Given the description of an element on the screen output the (x, y) to click on. 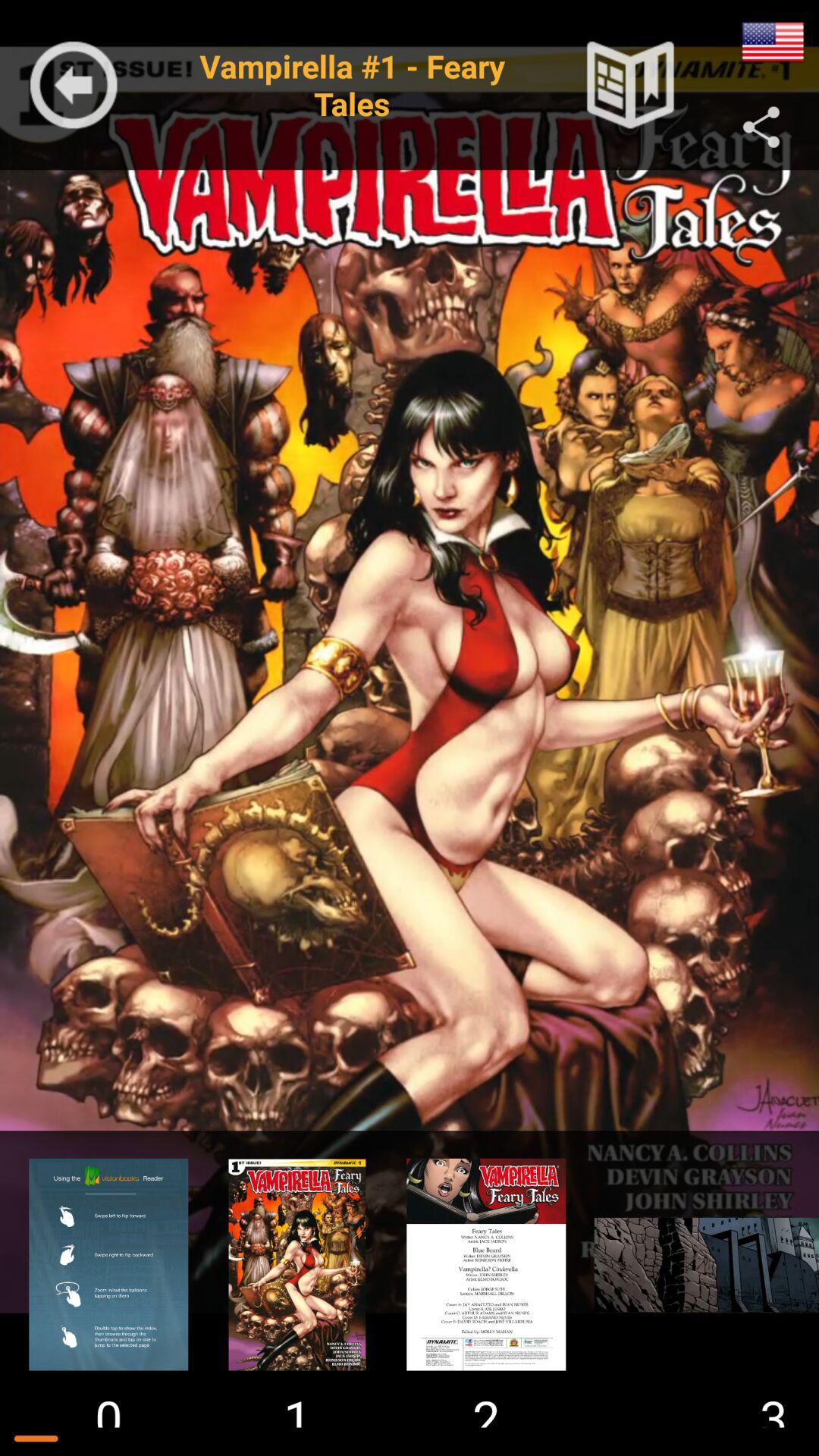
select different page (108, 1264)
